Given the description of an element on the screen output the (x, y) to click on. 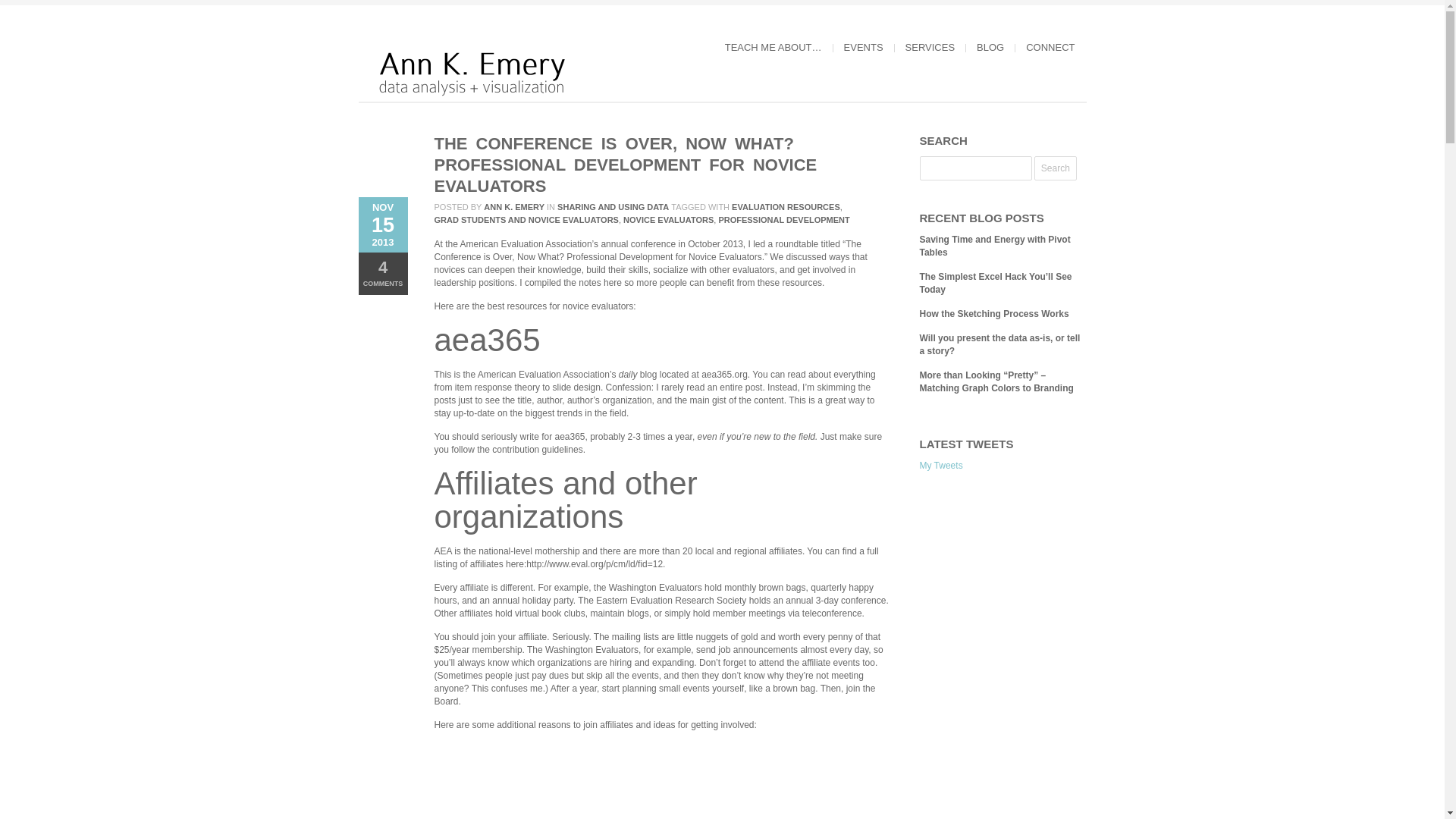
EVALUATION RESOURCES (786, 206)
Search (1055, 168)
4 COMMENTS (382, 273)
ANN K. EMERY (513, 206)
Search (1055, 168)
Saving Time and Energy with Pivot Tables (994, 245)
BLOG (989, 46)
Will you present the data as-is, or tell a story? (999, 344)
GRAD STUDENTS AND NOVICE EVALUATORS (525, 219)
EVENTS (863, 46)
PROFESSIONAL DEVELOPMENT (782, 219)
SERVICES (929, 46)
SHARING AND USING DATA (612, 206)
How the Sketching Process Works (993, 313)
NOVICE EVALUATORS (668, 219)
